Given the description of an element on the screen output the (x, y) to click on. 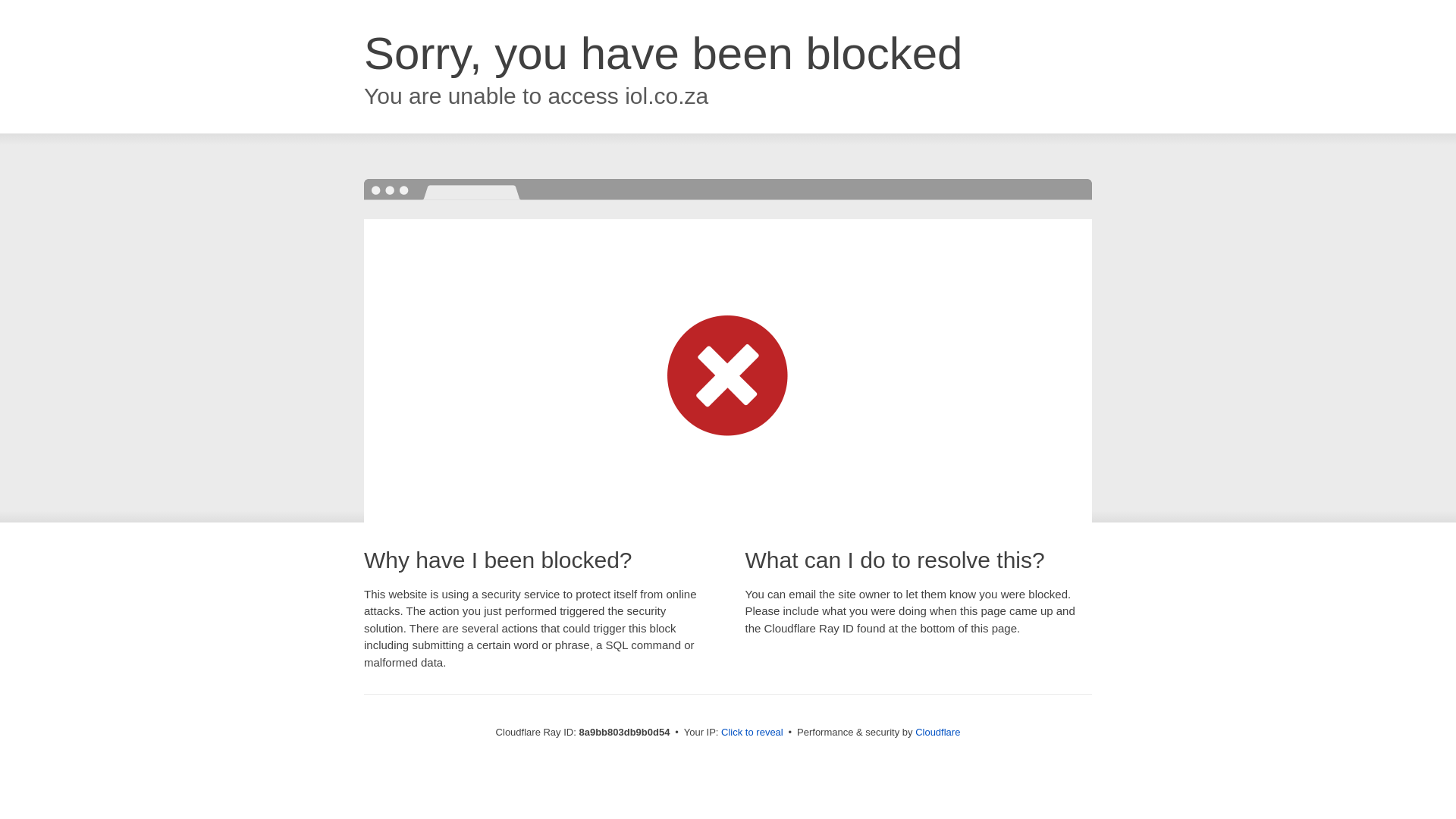
Click to reveal (751, 732)
Cloudflare (937, 731)
